Given the description of an element on the screen output the (x, y) to click on. 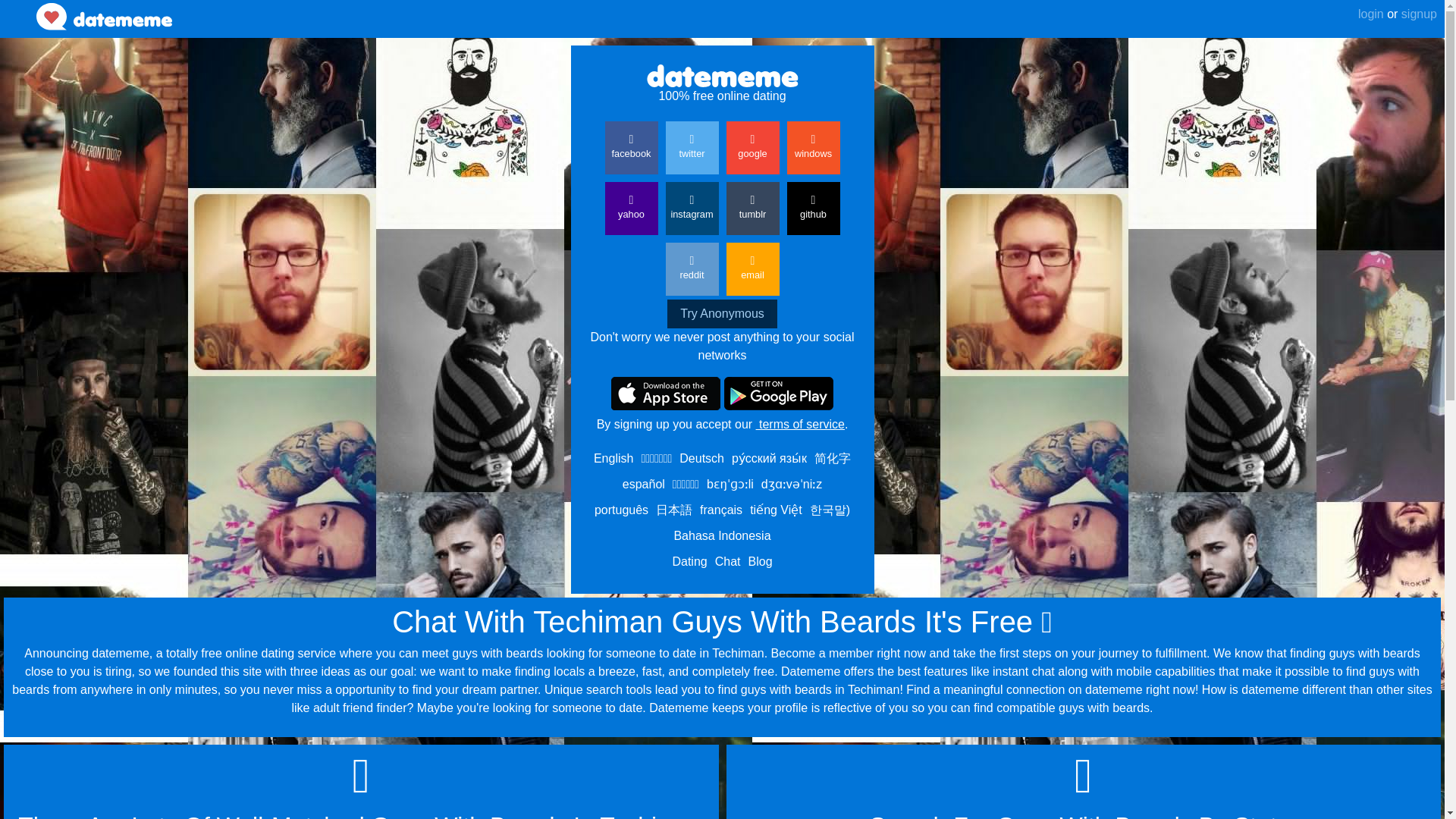
back (17, 6)
github (813, 208)
Chat (727, 561)
Blog (759, 561)
email (752, 268)
Dating (688, 561)
tumblr (752, 208)
reddit (692, 268)
yahoo (631, 208)
windows (813, 147)
